Given the description of an element on the screen output the (x, y) to click on. 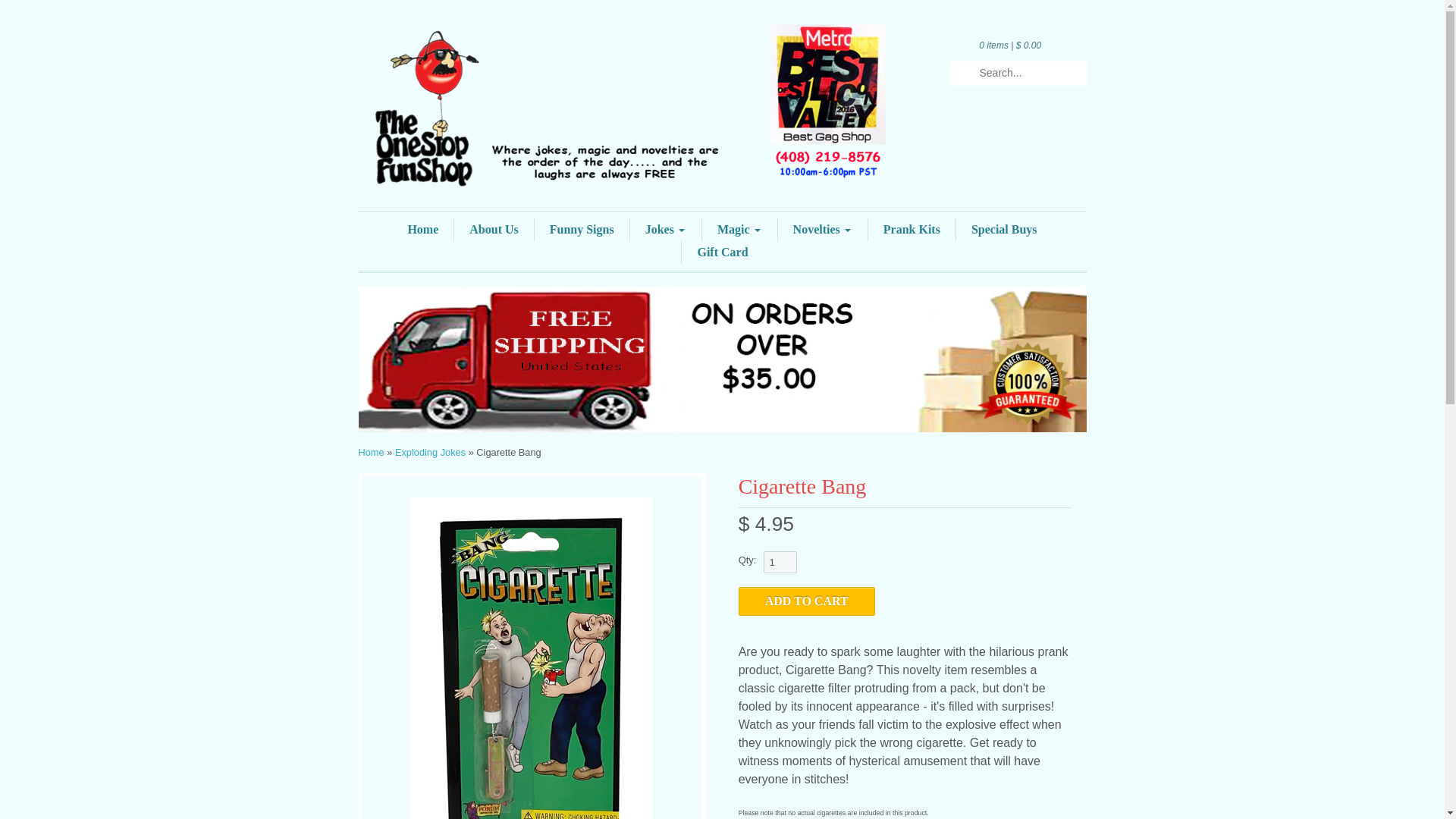
Gift Card (721, 251)
Exploding Jokes (429, 451)
Magic (739, 229)
Funny Signs (581, 229)
About Us (493, 229)
Home (421, 229)
1 (779, 562)
Jokes (665, 229)
ADD TO CART (806, 601)
Novelties (822, 229)
